Given the description of an element on the screen output the (x, y) to click on. 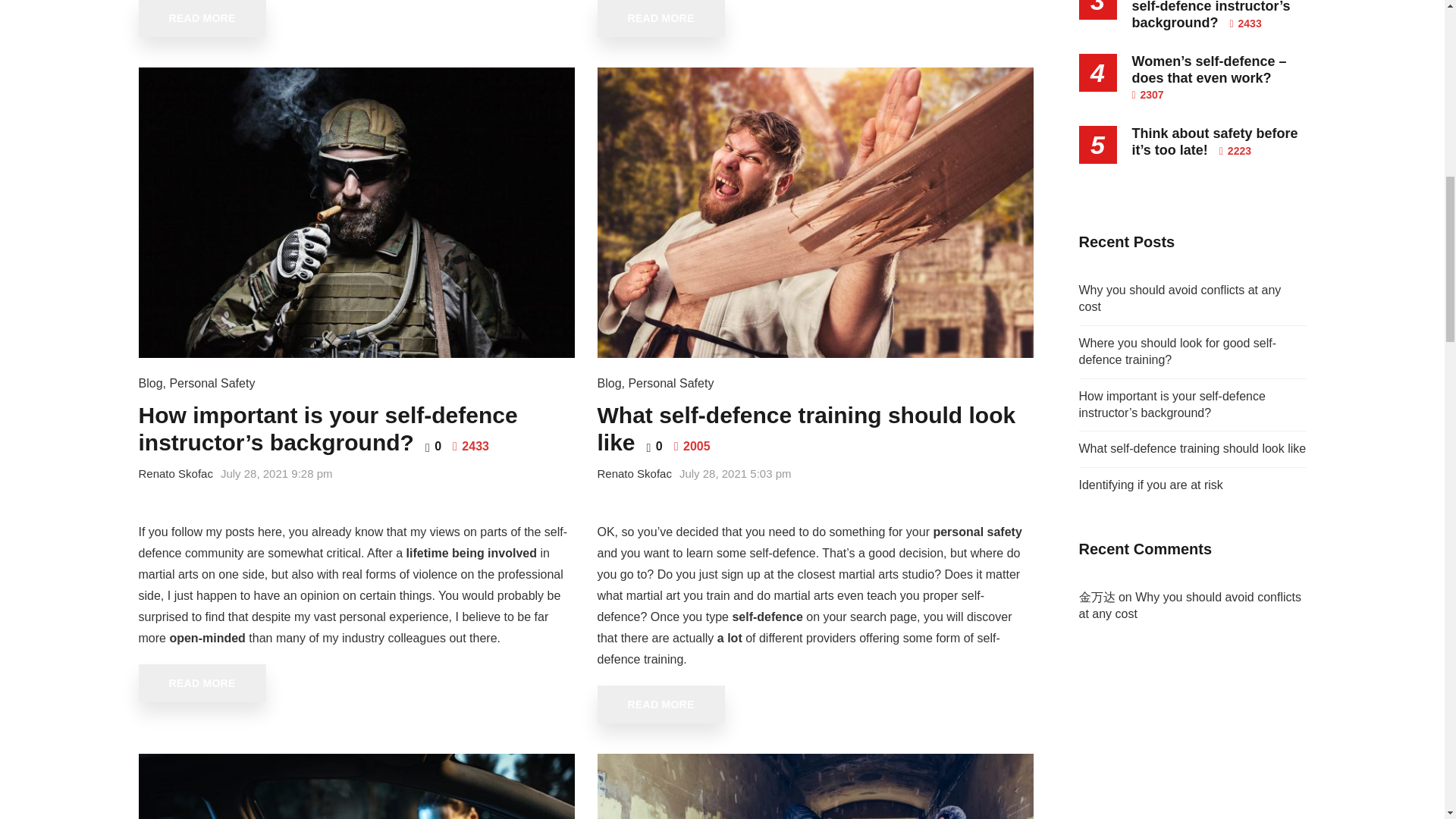
READ MORE (201, 18)
View all posts by Renato Skofac (175, 473)
READ MORE (660, 18)
Personal Safety (211, 382)
Blog (149, 382)
Views (470, 445)
